Given the description of an element on the screen output the (x, y) to click on. 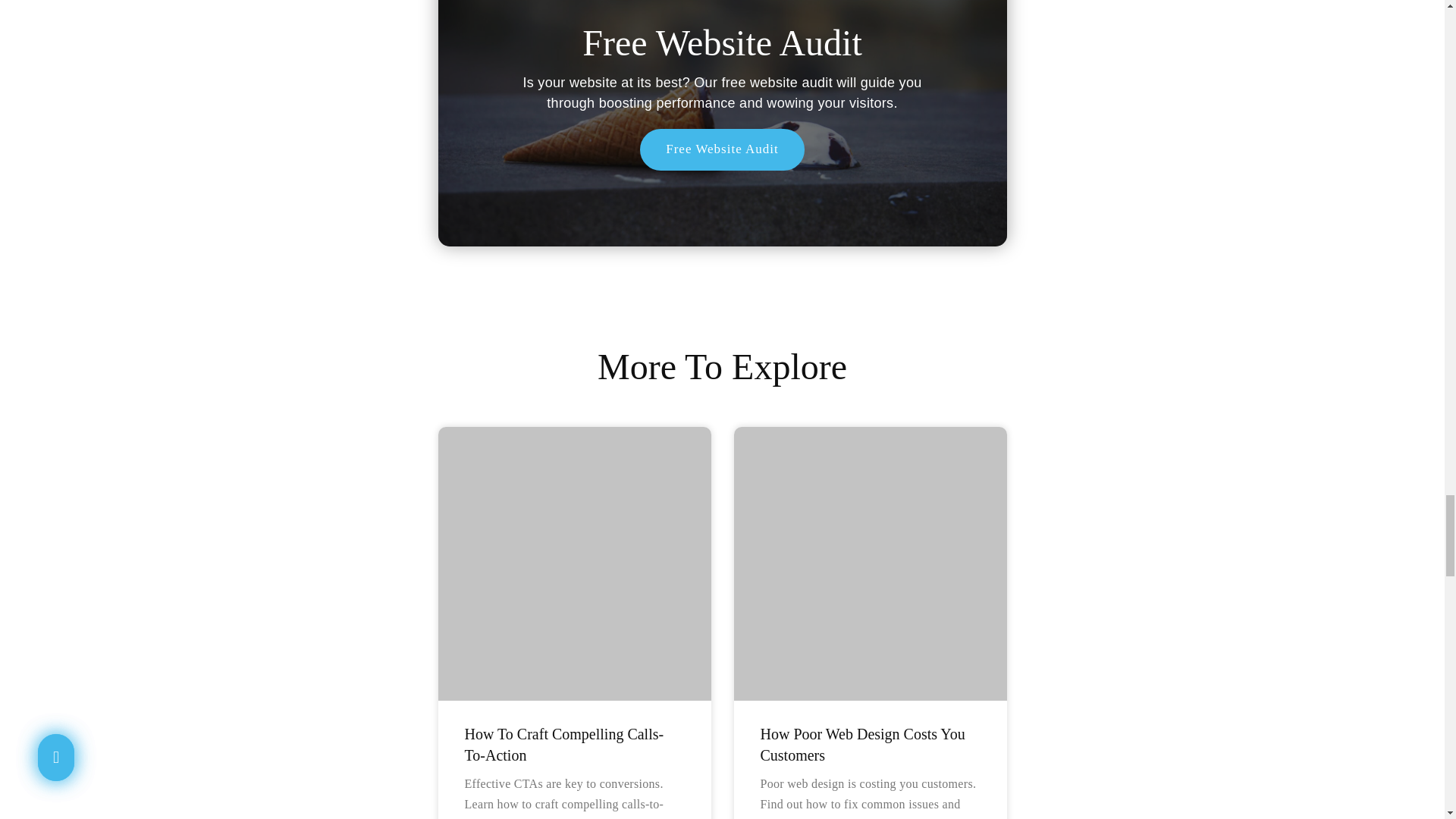
How To Craft Compelling Calls-To-Action (563, 744)
Free Website Audit (722, 149)
How Poor Web Design Costs You Customers (861, 744)
